Given the description of an element on the screen output the (x, y) to click on. 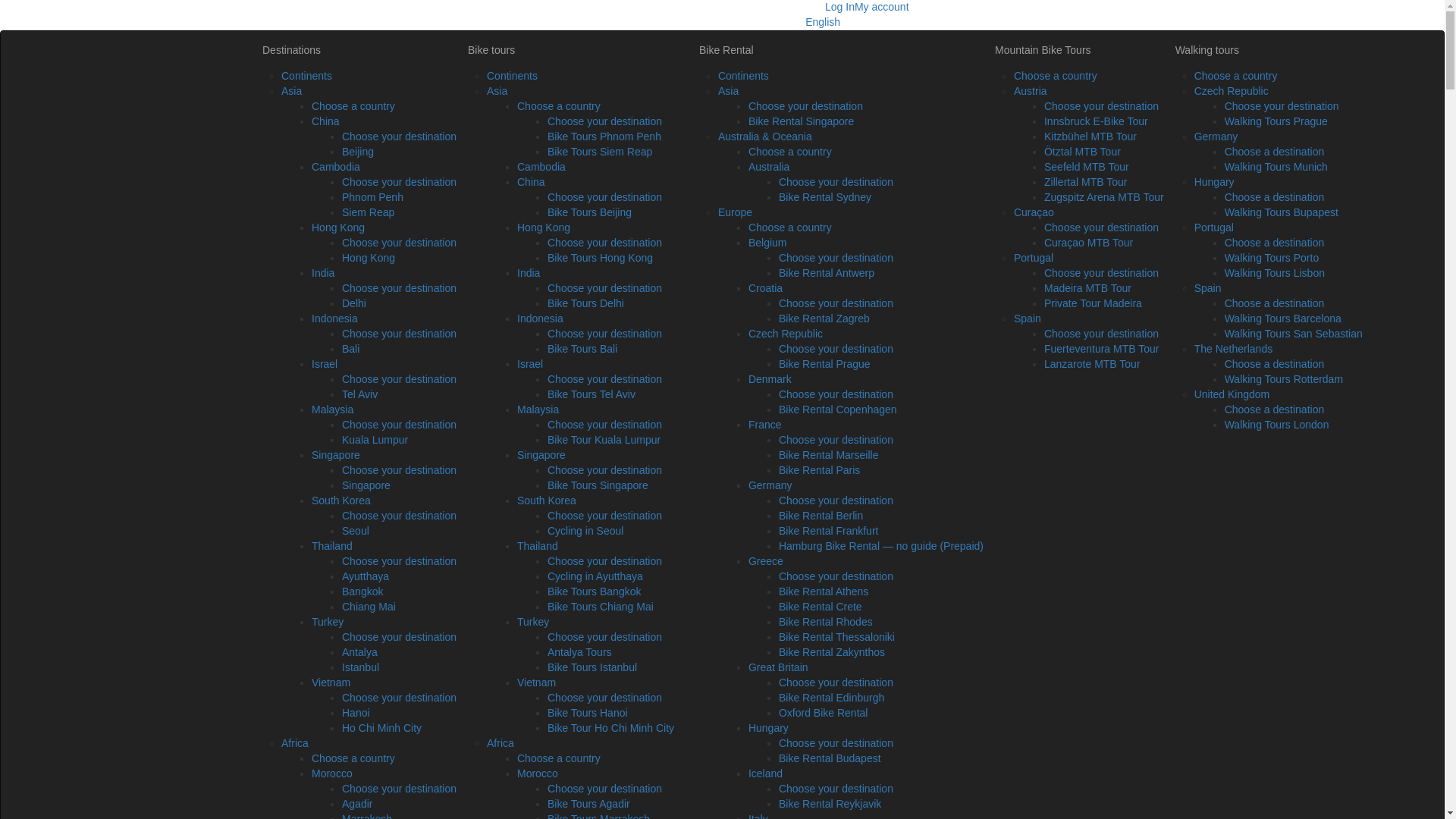
India (322, 272)
Choose your destination (399, 242)
Choose your destination (399, 287)
Destinations (353, 49)
English (918, 13)
Cambodia (335, 166)
Choose your destination (399, 182)
Indonesia (334, 318)
Israel (324, 363)
China (325, 121)
